Given the description of an element on the screen output the (x, y) to click on. 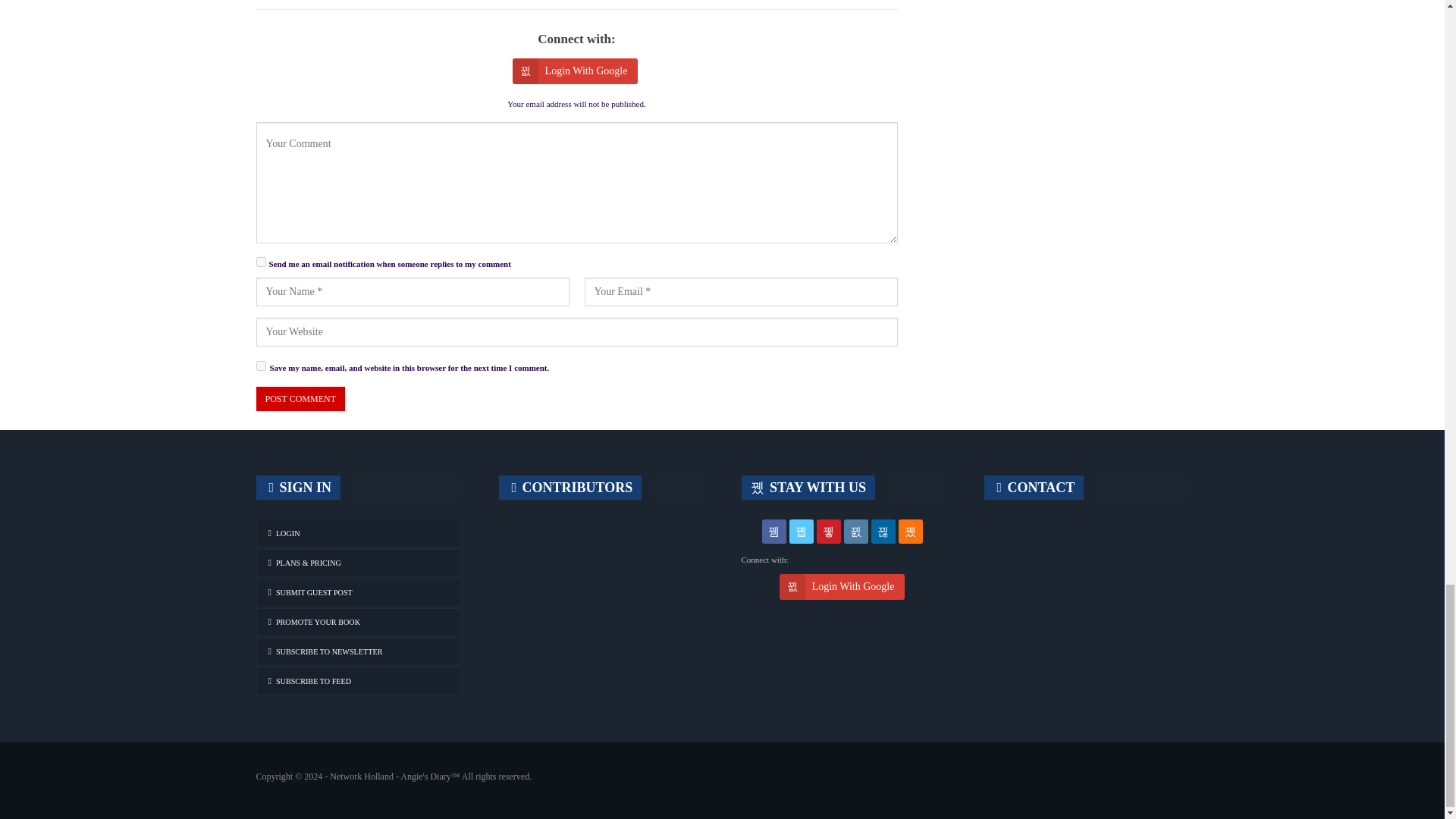
Post Comment (300, 398)
1 (261, 261)
yes (261, 366)
